Given the description of an element on the screen output the (x, y) to click on. 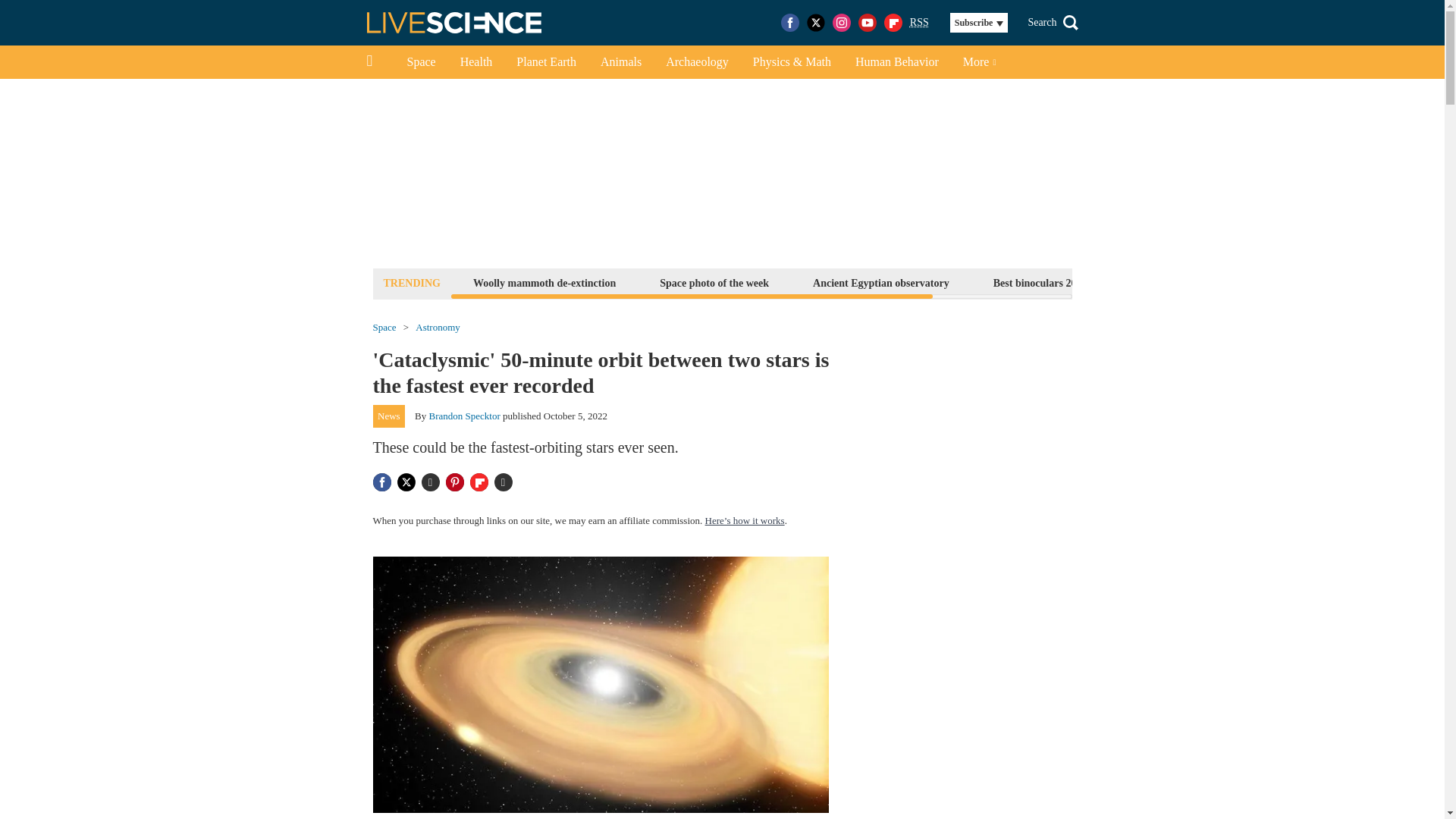
Space photo of the week (713, 282)
Life's Little Mysteries (1179, 282)
Astronomy (437, 327)
News (389, 415)
Best binoculars 2024 (1040, 282)
Really Simple Syndication (919, 21)
Ancient Egyptian observatory (881, 282)
Space (420, 61)
Animals (620, 61)
Woolly mammoth de-extinction (544, 282)
